Given the description of an element on the screen output the (x, y) to click on. 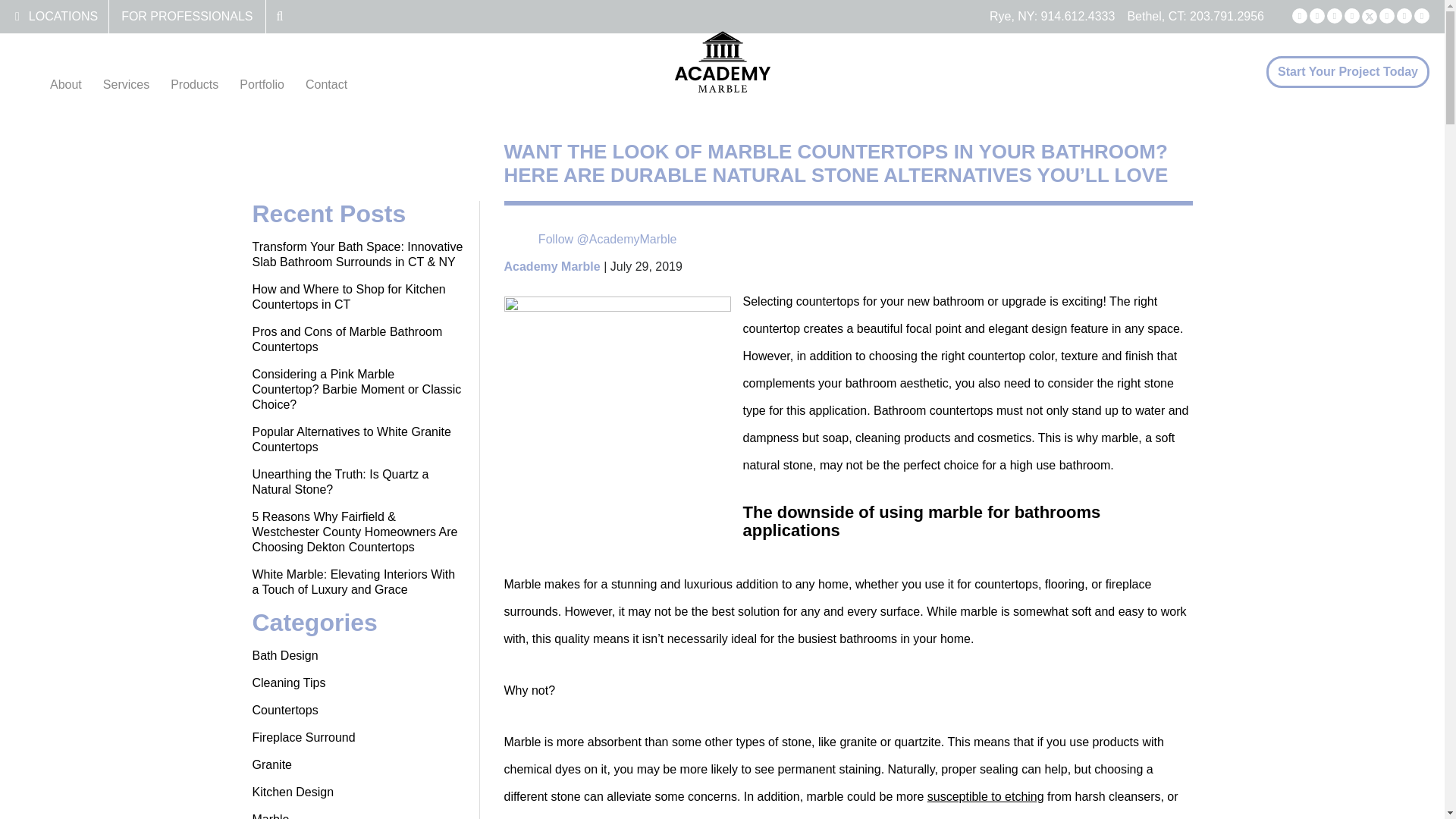
LOCATIONS (63, 15)
203.791.2956 (1226, 15)
914.612.4333 (1078, 15)
FOR PROFESSIONALS (185, 15)
